Given the description of an element on the screen output the (x, y) to click on. 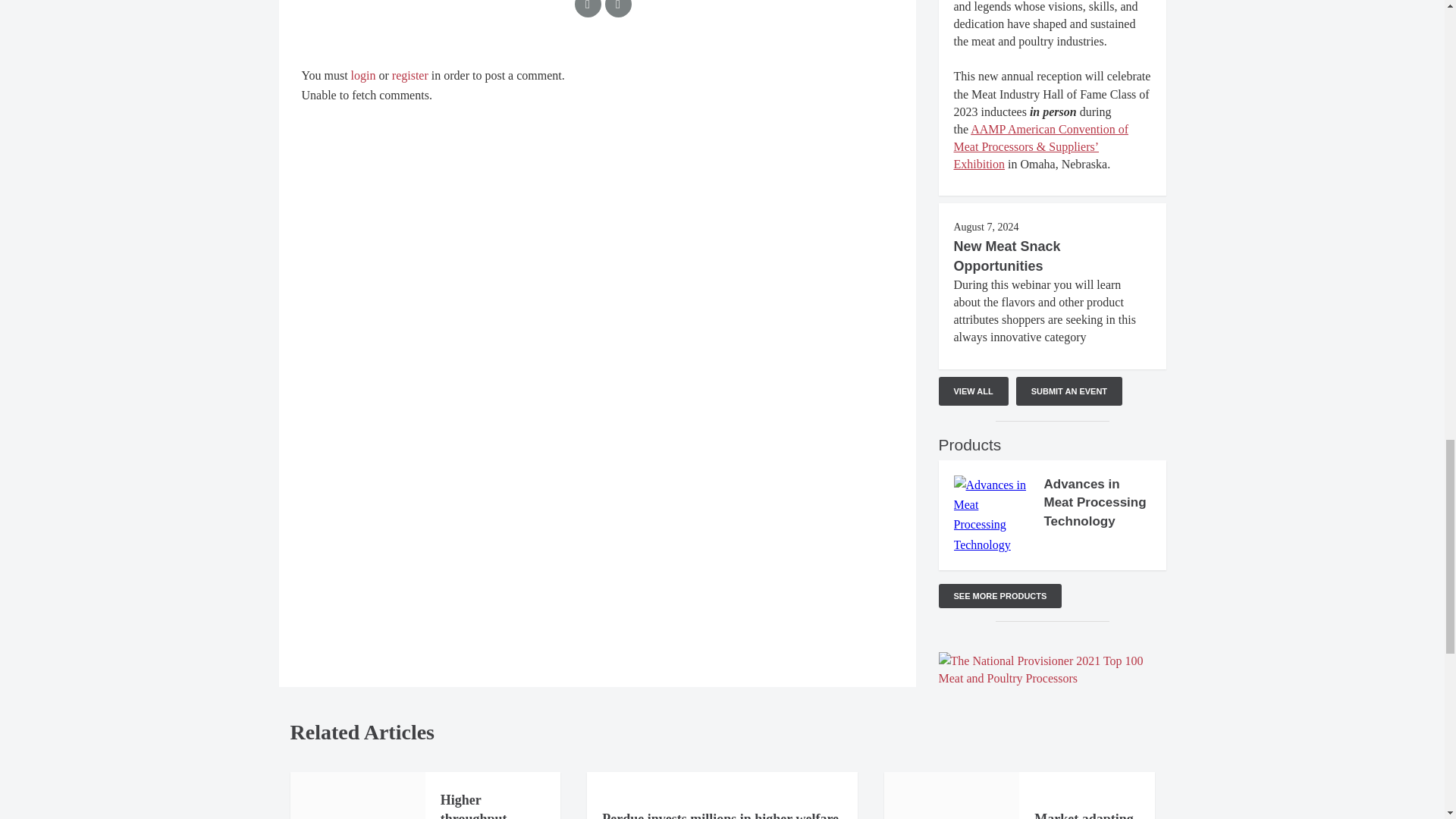
New Meat Snack Opportunities (1007, 256)
